Given the description of an element on the screen output the (x, y) to click on. 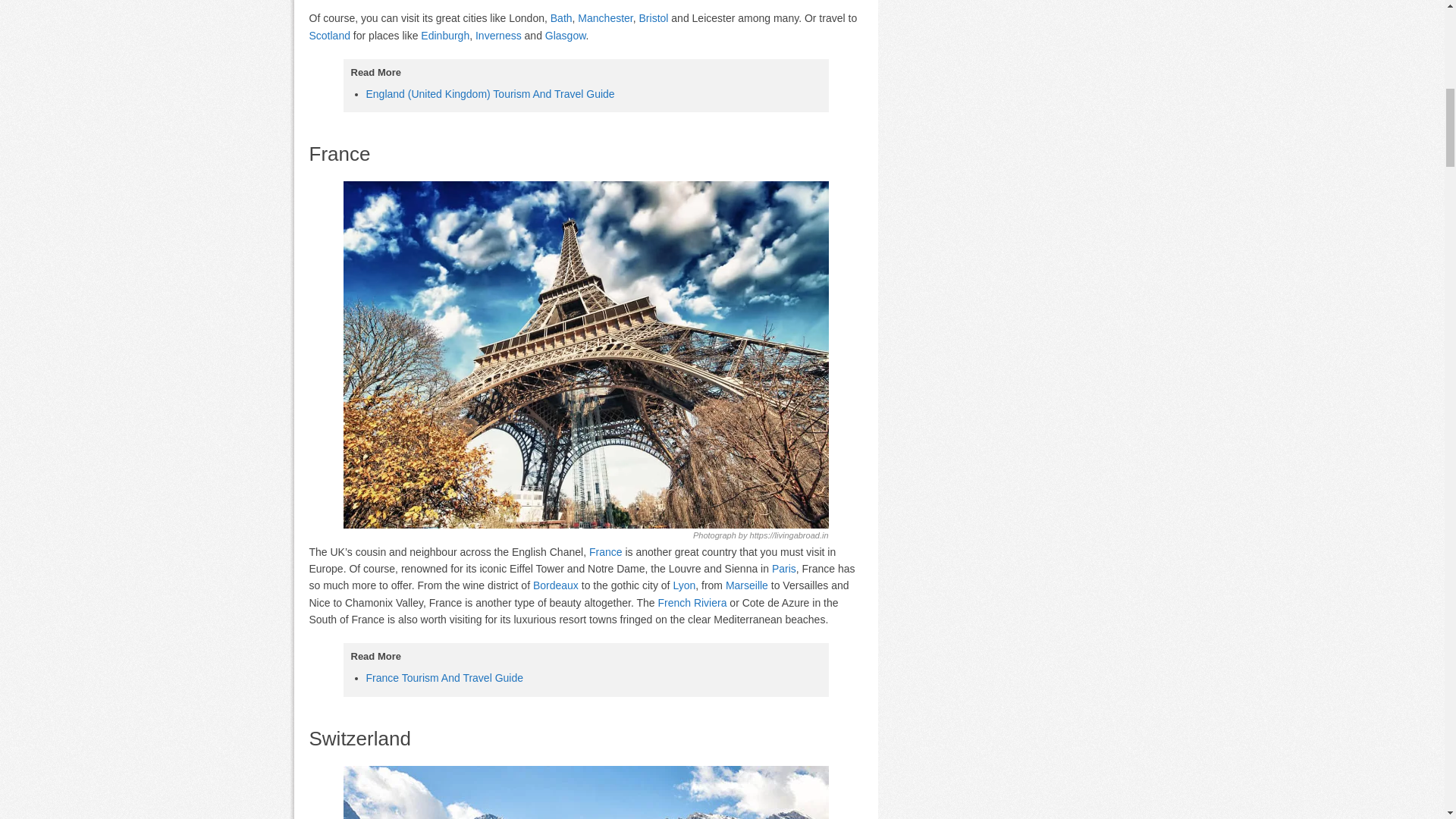
Inverness (498, 35)
Glasgow (565, 35)
French Riviera (692, 603)
Bath (561, 18)
Marseille (746, 585)
Manchester (604, 18)
France Tourism And Travel Guide (443, 677)
Paris (783, 568)
Lyon (683, 585)
Bristol (653, 18)
Edinburgh (444, 35)
France (606, 551)
Bordeaux (555, 585)
Scotland (329, 35)
